Given the description of an element on the screen output the (x, y) to click on. 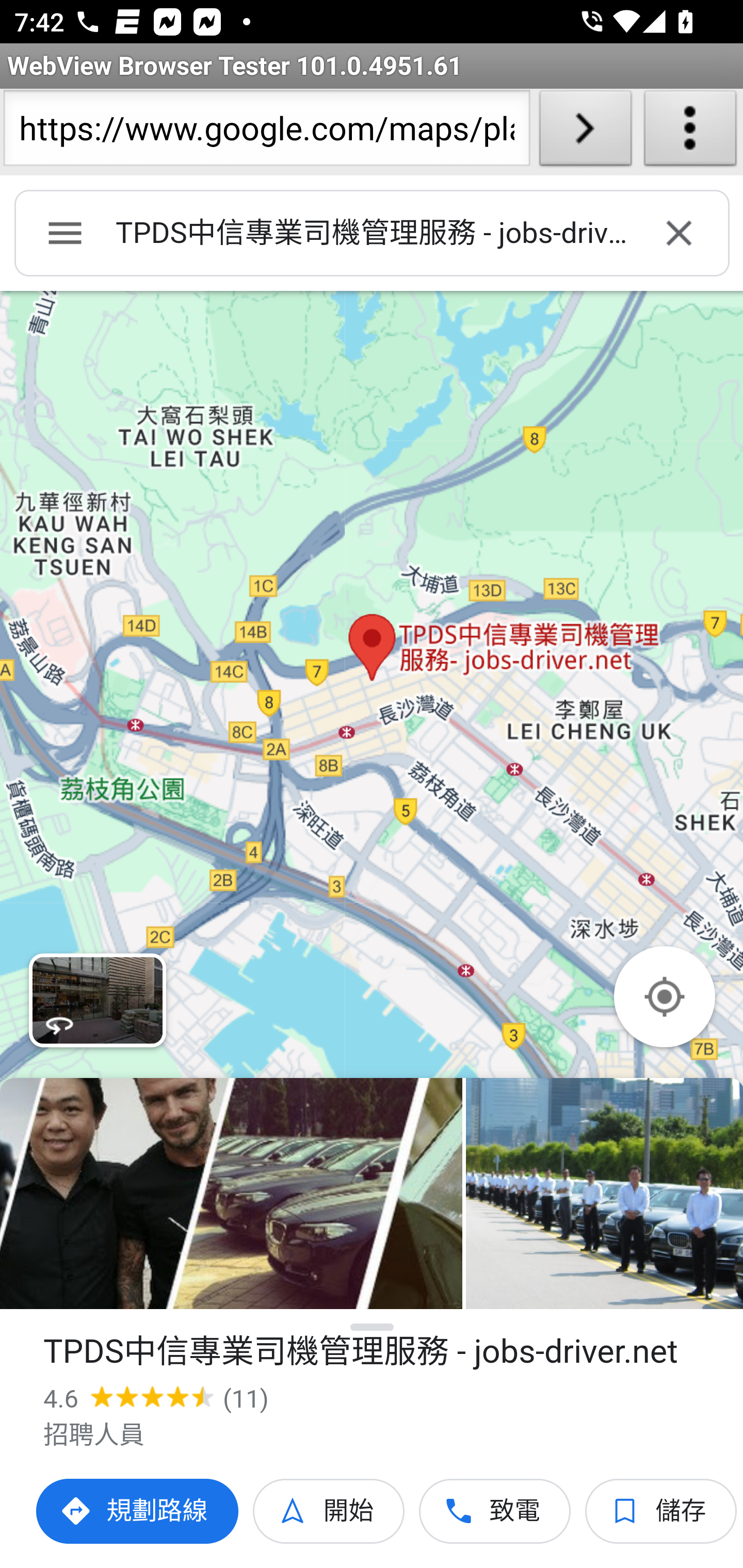
Load URL (585, 132)
About WebView (690, 132)
第 1 張相片 (共 8 張) (231, 1193)
第 2 張相片 (共 8 張) (604, 1193)
顯示詳細資料 (372, 1327)
前往TPDS中信專業司機管理服務 - jobs-driver.net的路線 (137, 1511)
開始 (329, 1511)
致電「TPDS中信專業司機管理服務 - jobs-driver.net」  致電 (495, 1511)
將「TPDS中信專業司機管理服務 - jobs-driver.net」儲存至清單中 (661, 1511)
